Given the description of an element on the screen output the (x, y) to click on. 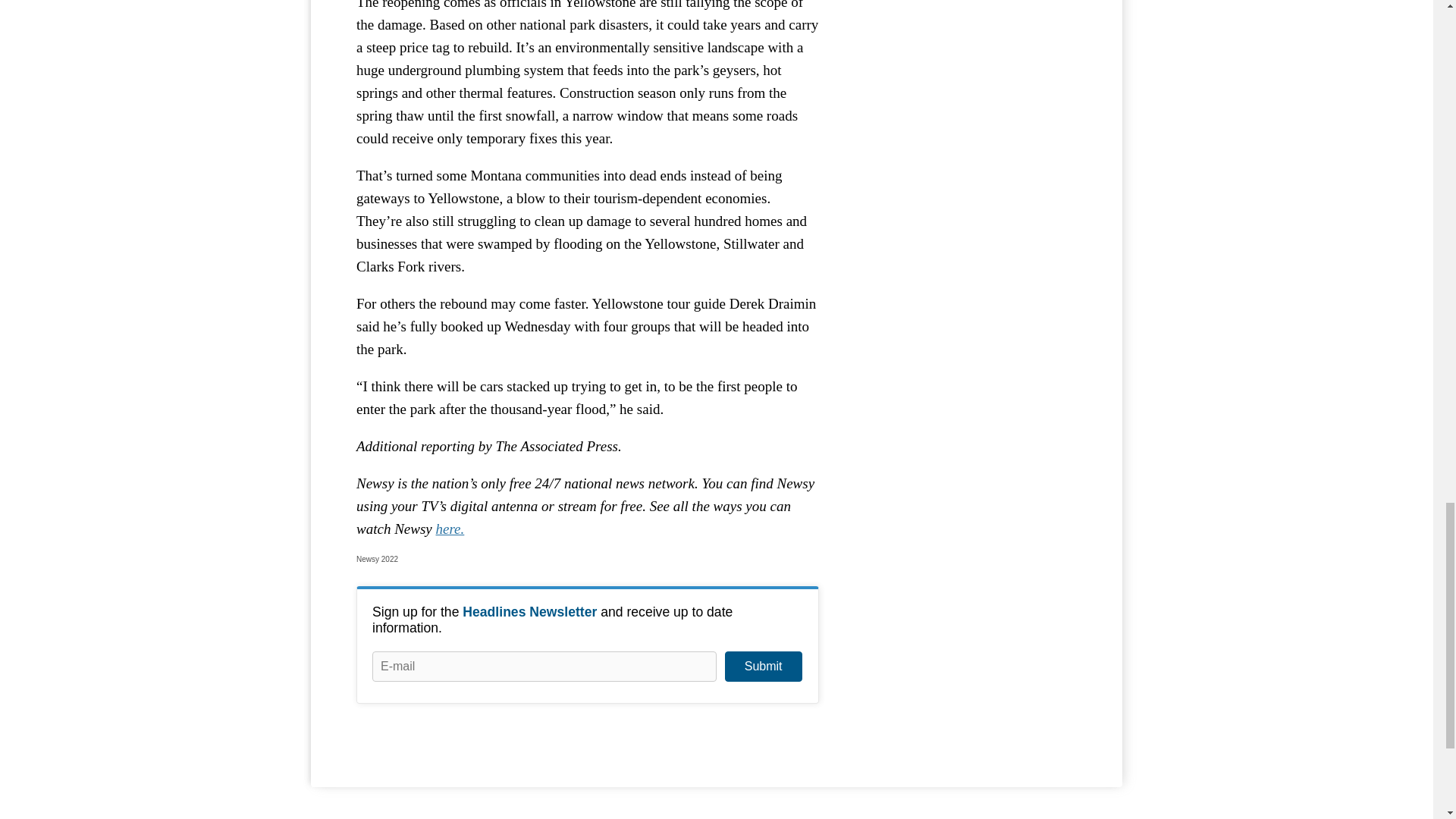
Submit (763, 666)
